Given the description of an element on the screen output the (x, y) to click on. 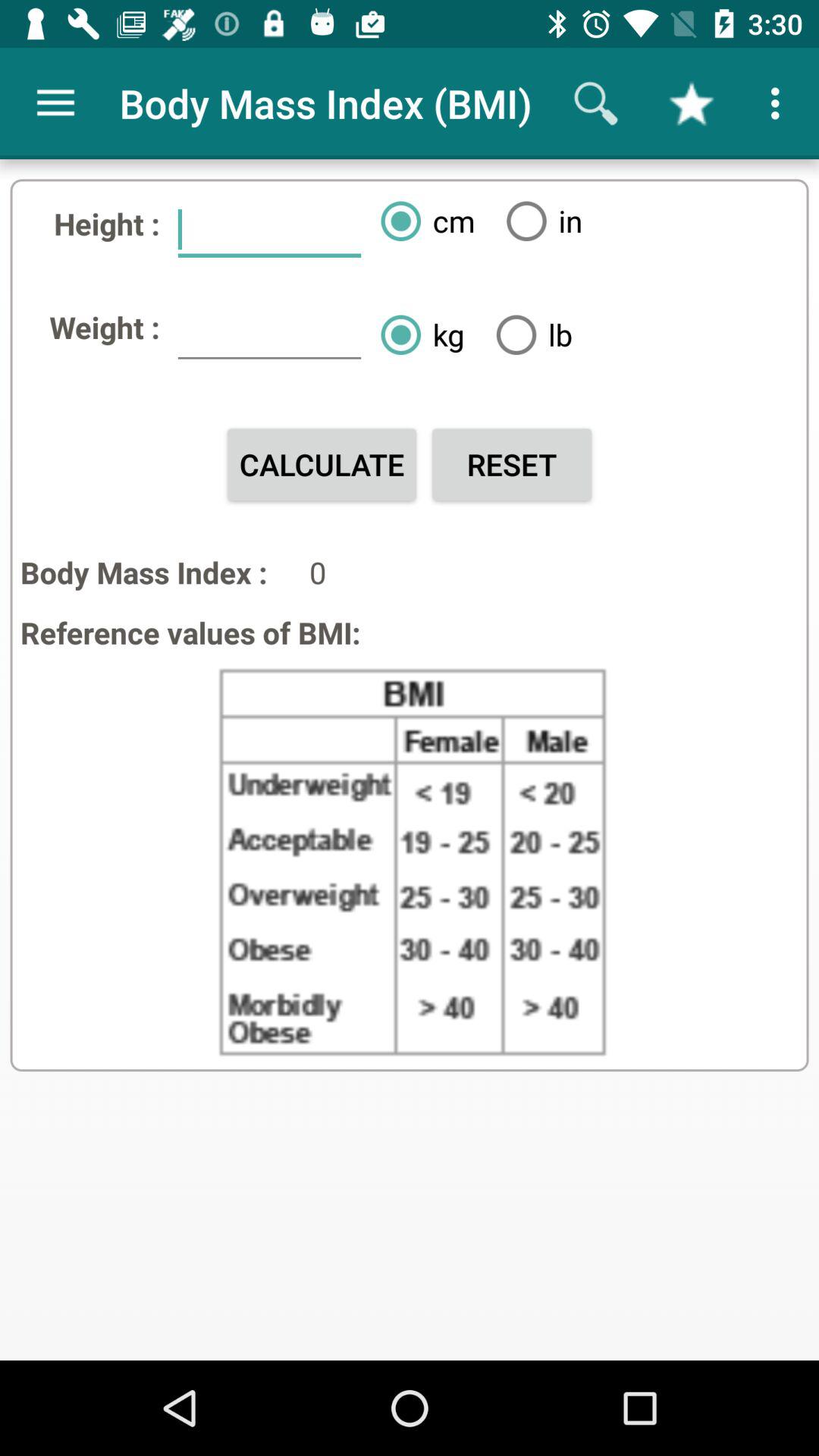
launch the icon above height : icon (55, 103)
